Given the description of an element on the screen output the (x, y) to click on. 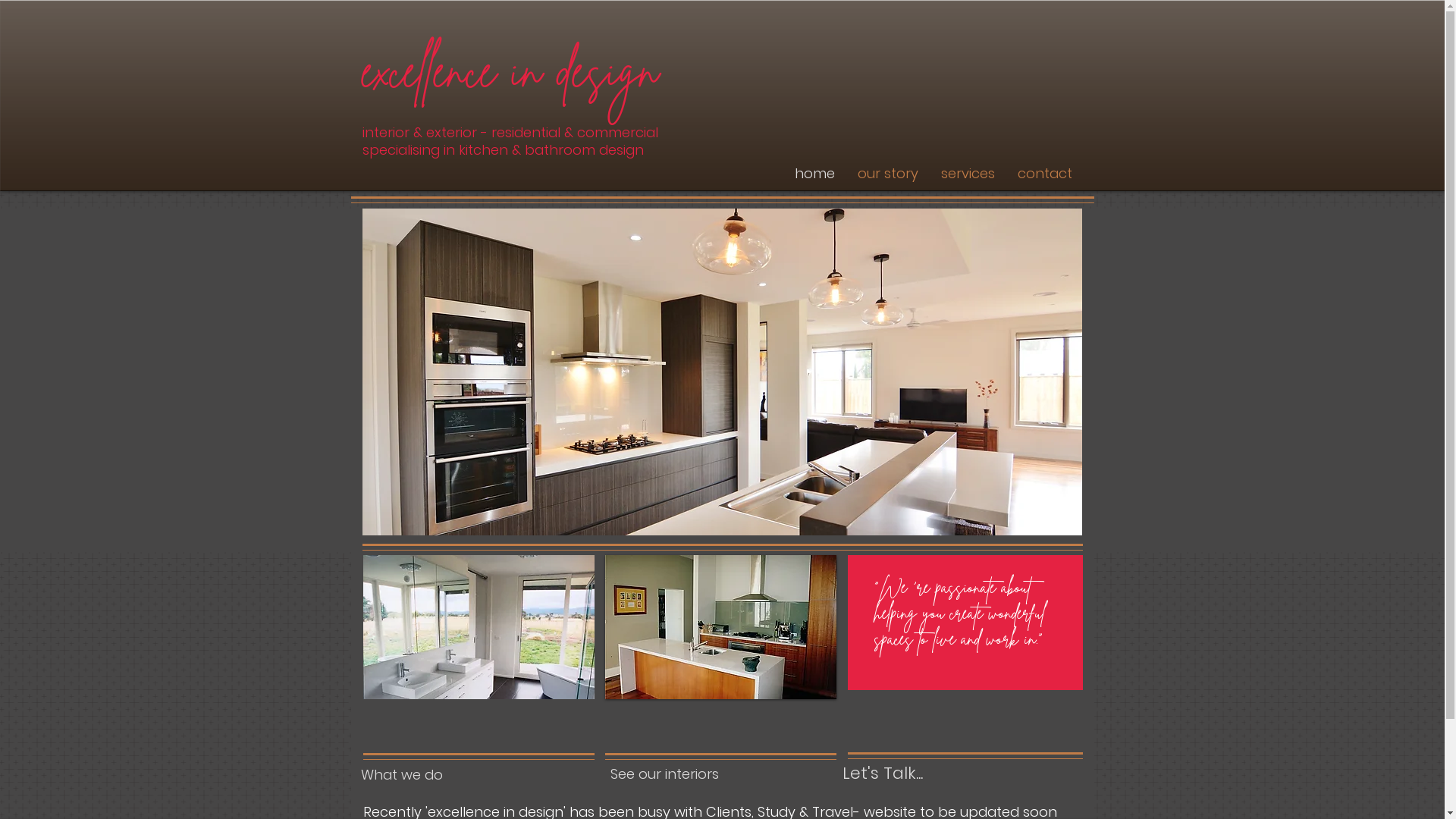
contact Element type: text (1043, 170)
bathroom design Element type: hover (477, 627)
Let's Talk... Element type: text (882, 774)
services Element type: text (967, 170)
DSC_0107 (4).jpg Element type: hover (722, 371)
See our interiors Element type: text (663, 774)
our story Element type: text (887, 170)
home Element type: text (813, 170)
What we do Element type: text (401, 774)
